Given the description of an element on the screen output the (x, y) to click on. 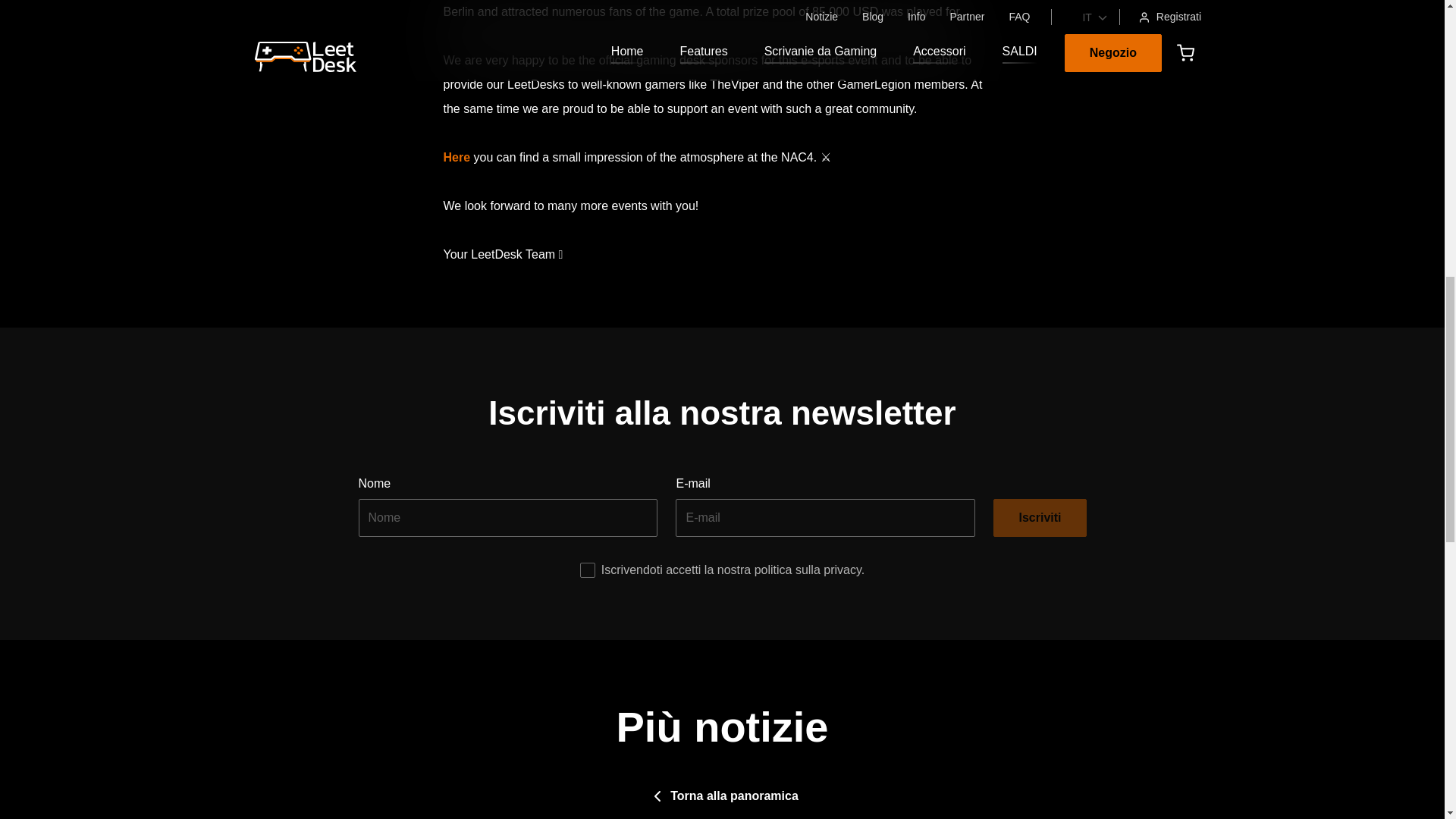
Iscriviti (1039, 517)
on (587, 570)
Here (456, 156)
Torna alla panoramica (721, 796)
